Given the description of an element on the screen output the (x, y) to click on. 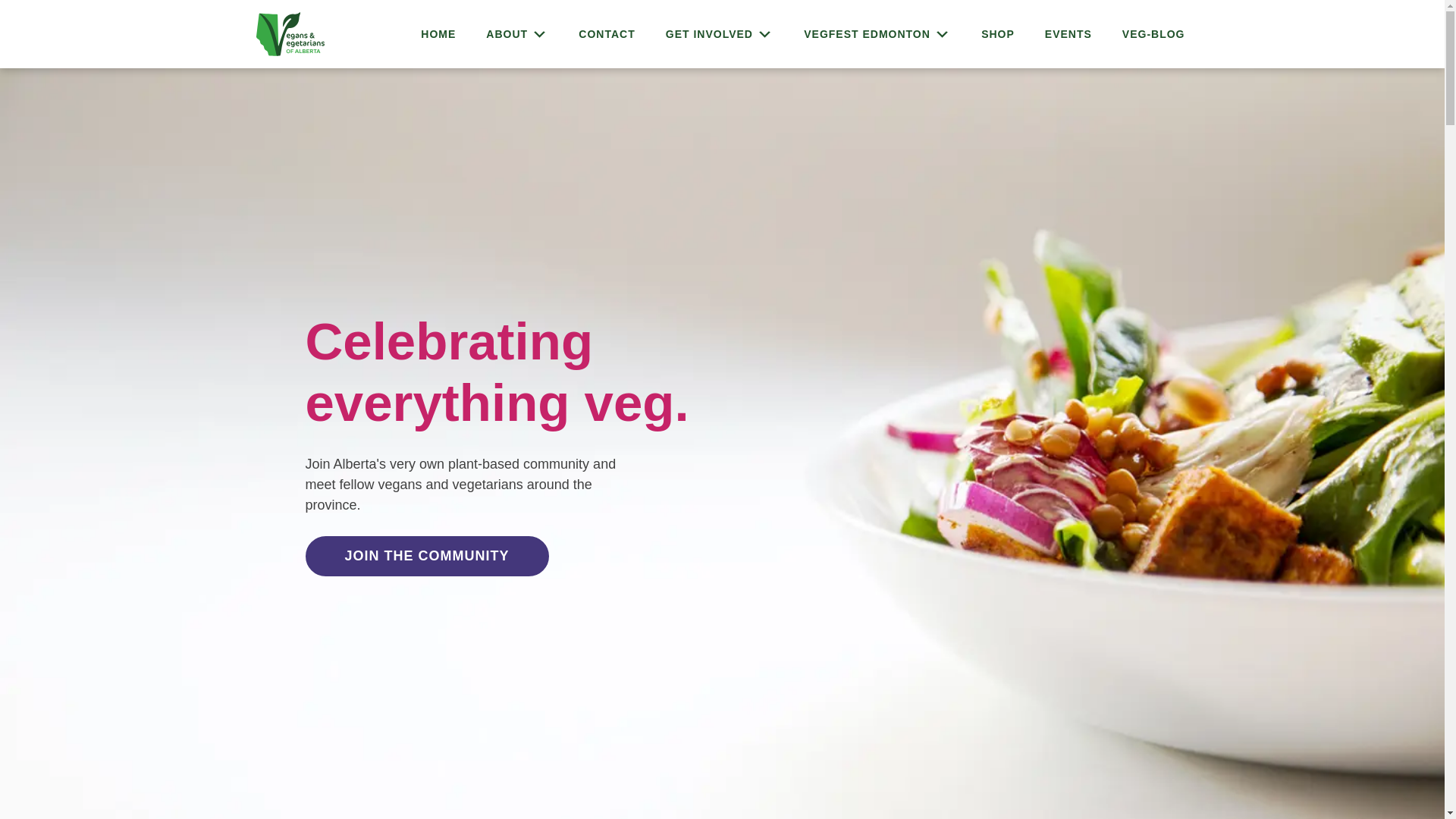
Vegans and Vegetarians of Alberta (111, 43)
HOME (438, 33)
GET INVOLVED (719, 33)
VEGFEST EDMONTON (877, 33)
CONTACT (606, 33)
ABOUT (516, 33)
SHOP (997, 33)
EVENTS (1067, 33)
VEG-BLOG (1152, 33)
JOIN THE COMMUNITY (426, 556)
